Given the description of an element on the screen output the (x, y) to click on. 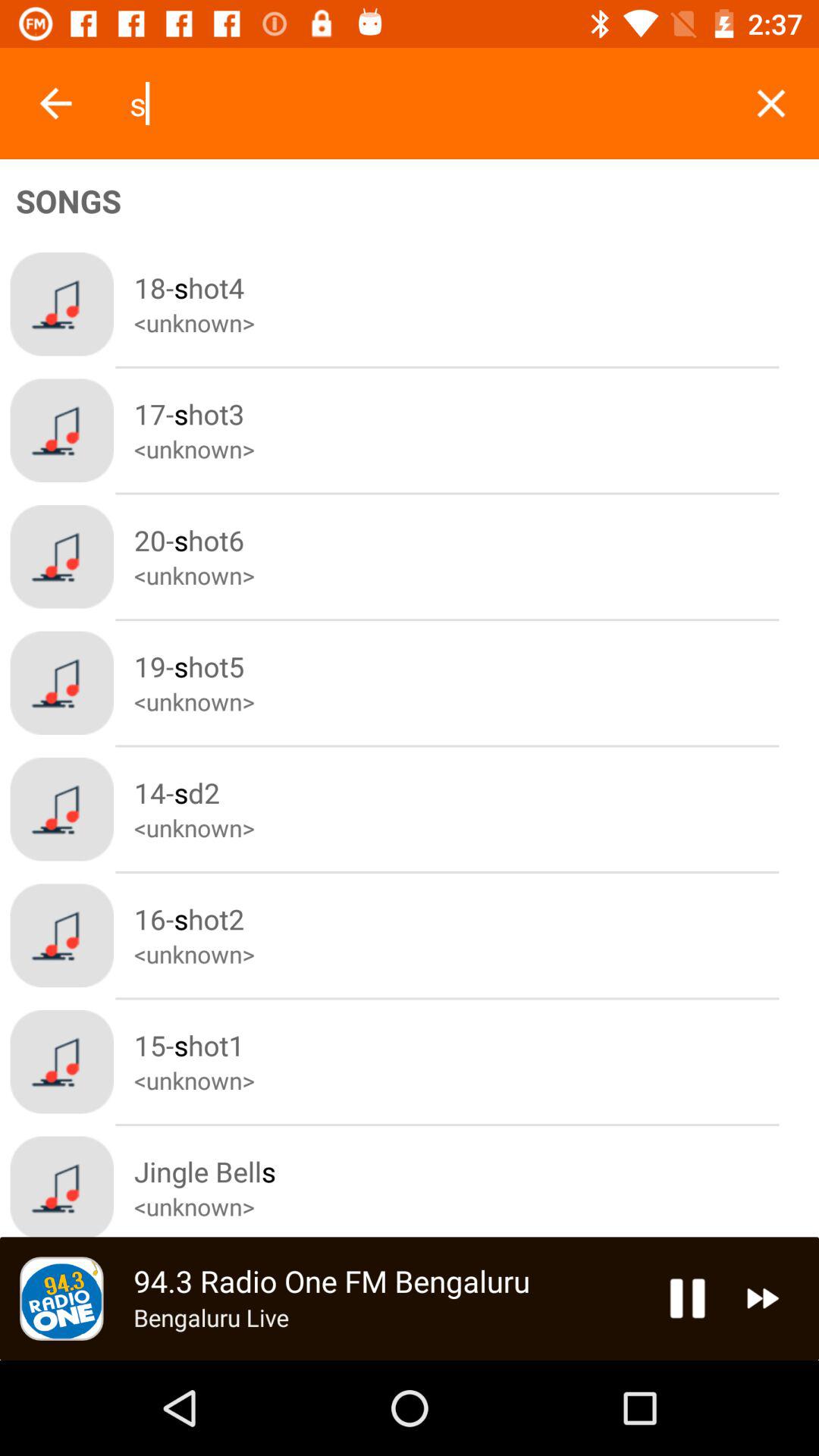
choose item next to the s item (771, 103)
